Given the description of an element on the screen output the (x, y) to click on. 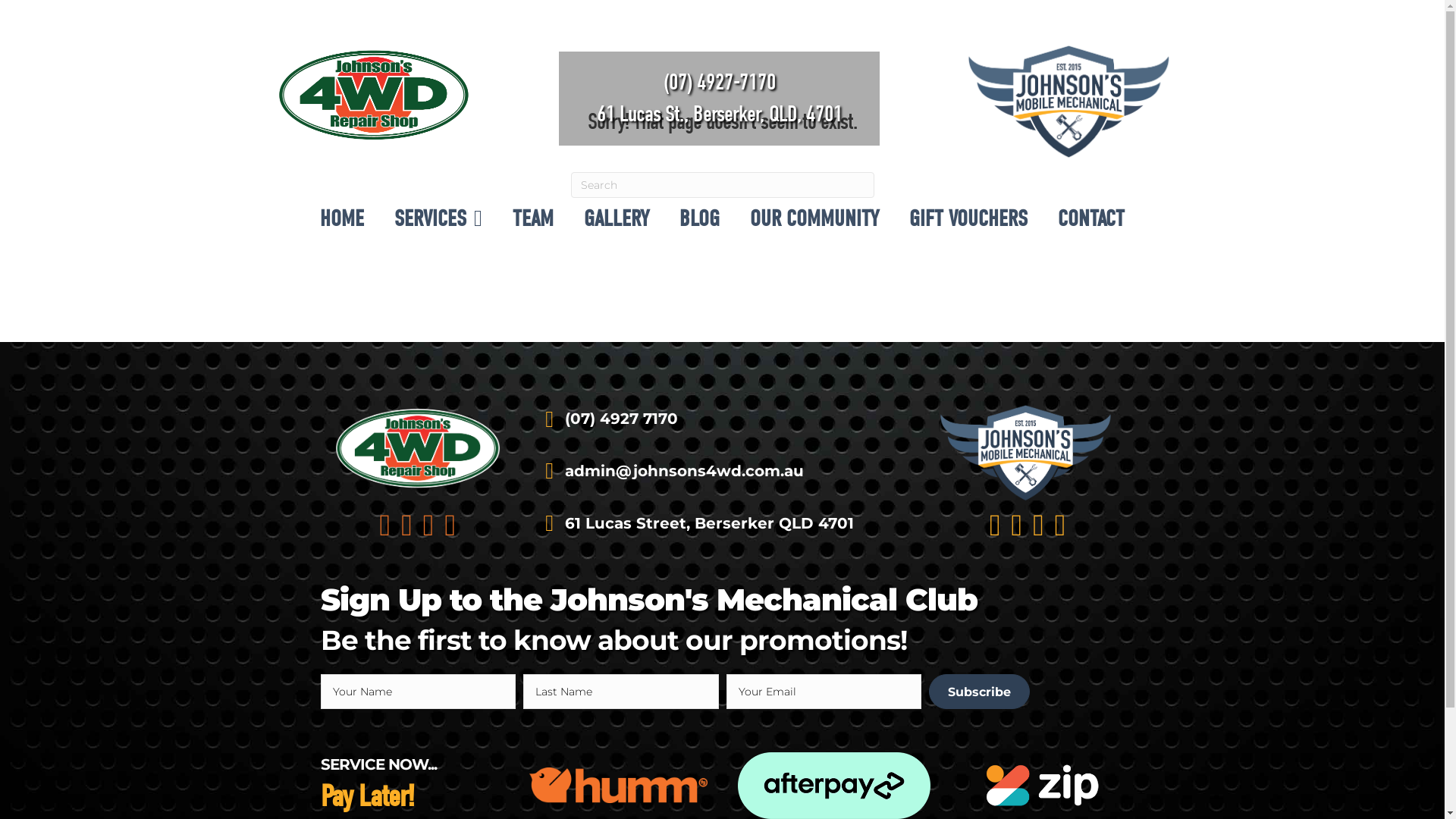
SERVICES Element type: text (437, 217)
Johnsons-4WD-Repair-Shop-Rockhampton Element type: hover (417, 447)
Johnsons-Mobile-Mechanical-Rockhampton Element type: hover (1071, 102)
GALLERY Element type: text (616, 217)
61 Lucas Street, Berserker QLD 4701 Element type: text (708, 523)
TEAM Element type: text (532, 217)
OUR COMMUNITY Element type: text (814, 217)
CONTACT Element type: text (1090, 217)
Subscribe Element type: text (978, 691)
BLOG Element type: text (699, 217)
HOME Element type: text (341, 217)
admin@johnsons4wd.com.au Element type: text (683, 470)
Humm Element type: hover (618, 785)
Johnsons-4WD-Repair-Shop-Rockhampton Element type: hover (372, 94)
Type and press Enter to search. Element type: hover (721, 184)
(07) 4927 7170 Element type: text (620, 418)
GIFT VOUCHERS Element type: text (967, 217)
Johnsons-Mobile-Mechanical-Rockhampton Element type: hover (1027, 452)
